Given the description of an element on the screen output the (x, y) to click on. 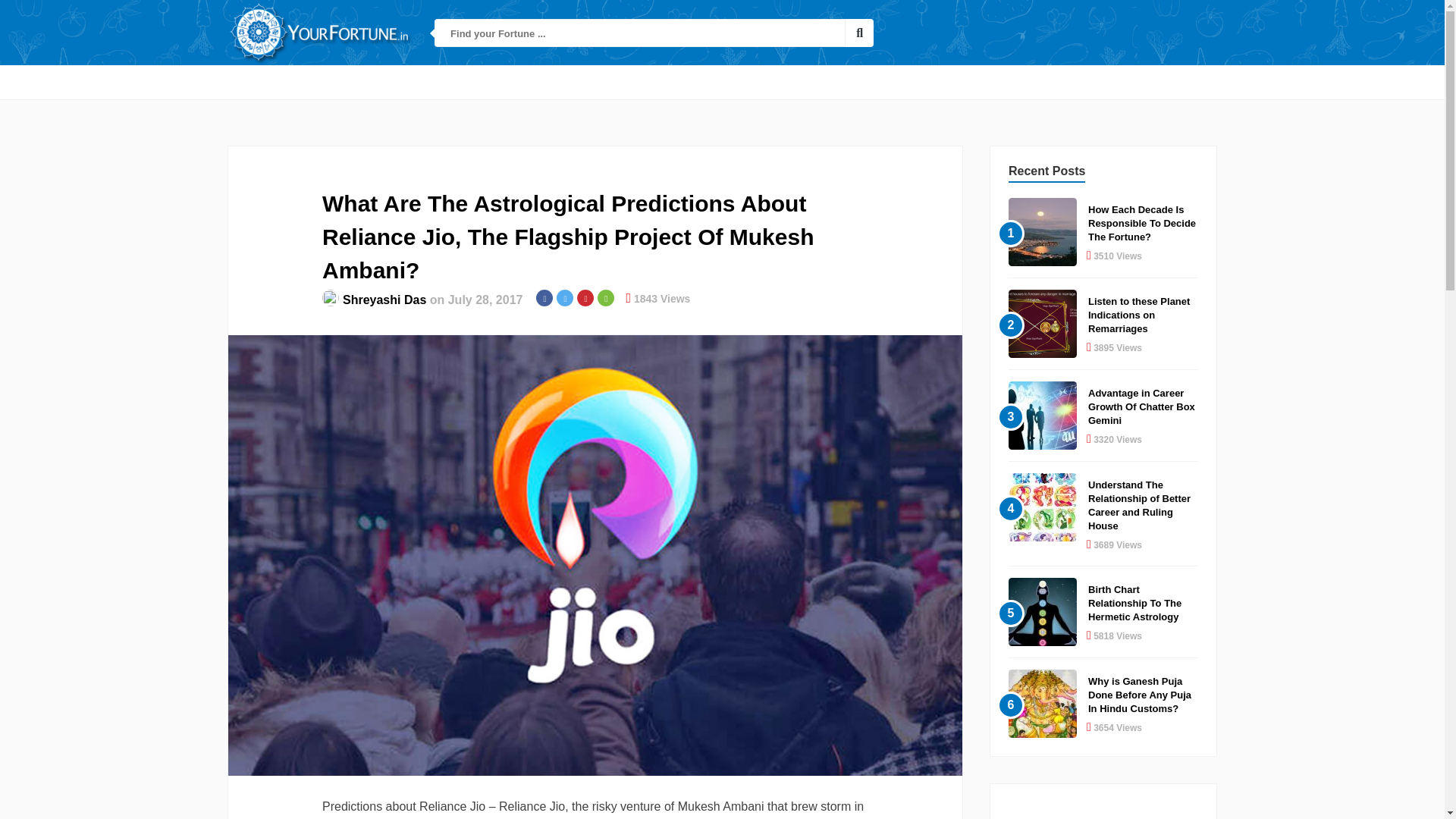
Shreyashi Das (384, 299)
Why is Ganesh Puja Done Before Any Puja In Hindu Customs? (1139, 694)
Posts by Shreyashi Das (384, 299)
Advertisement (1103, 801)
Advantage in Career Growth Of Chatter Box Gemini (1141, 406)
Birth Chart Relationship To The Hermetic Astrology (1133, 602)
How Each Decade Is Responsible To Decide The Fortune? (1141, 222)
Listen to these Planet Indications on Remarriages (1138, 314)
